Given the description of an element on the screen output the (x, y) to click on. 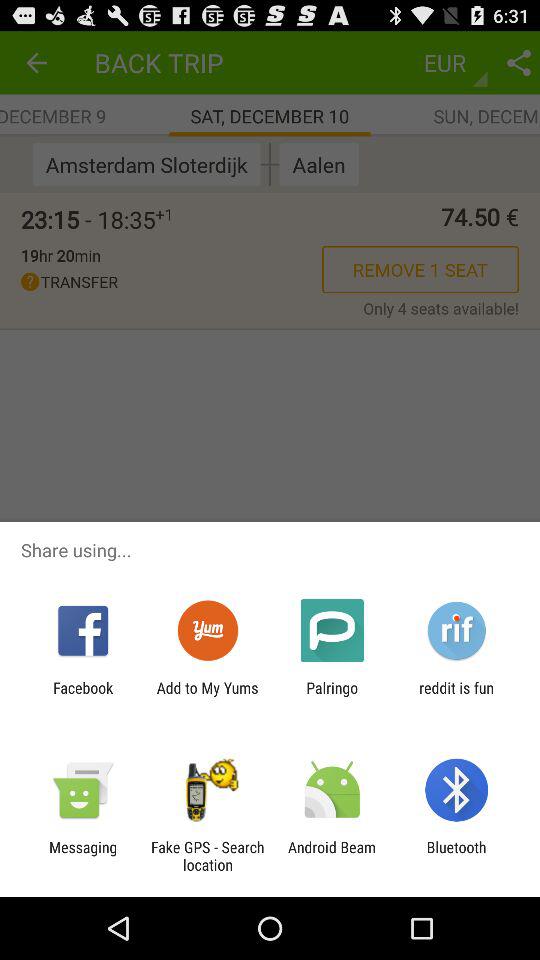
choose fake gps search icon (207, 856)
